Given the description of an element on the screen output the (x, y) to click on. 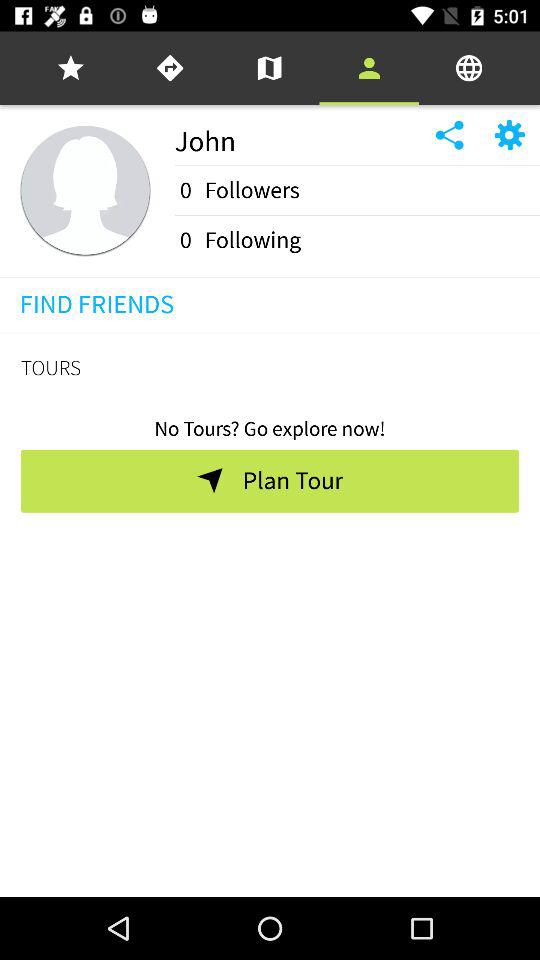
select the followers icon (251, 190)
